Given the description of an element on the screen output the (x, y) to click on. 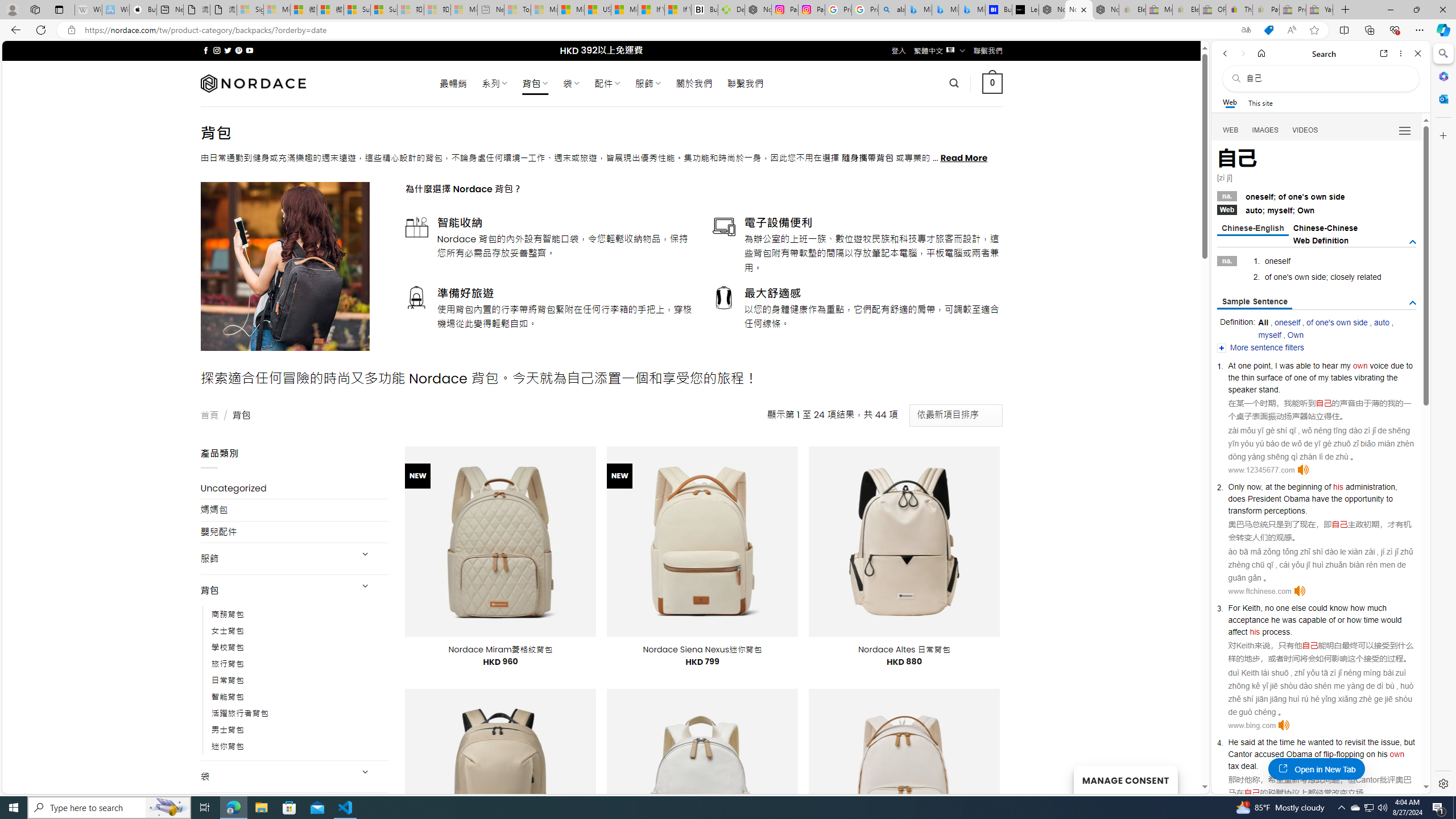
related (1368, 276)
